Given the description of an element on the screen output the (x, y) to click on. 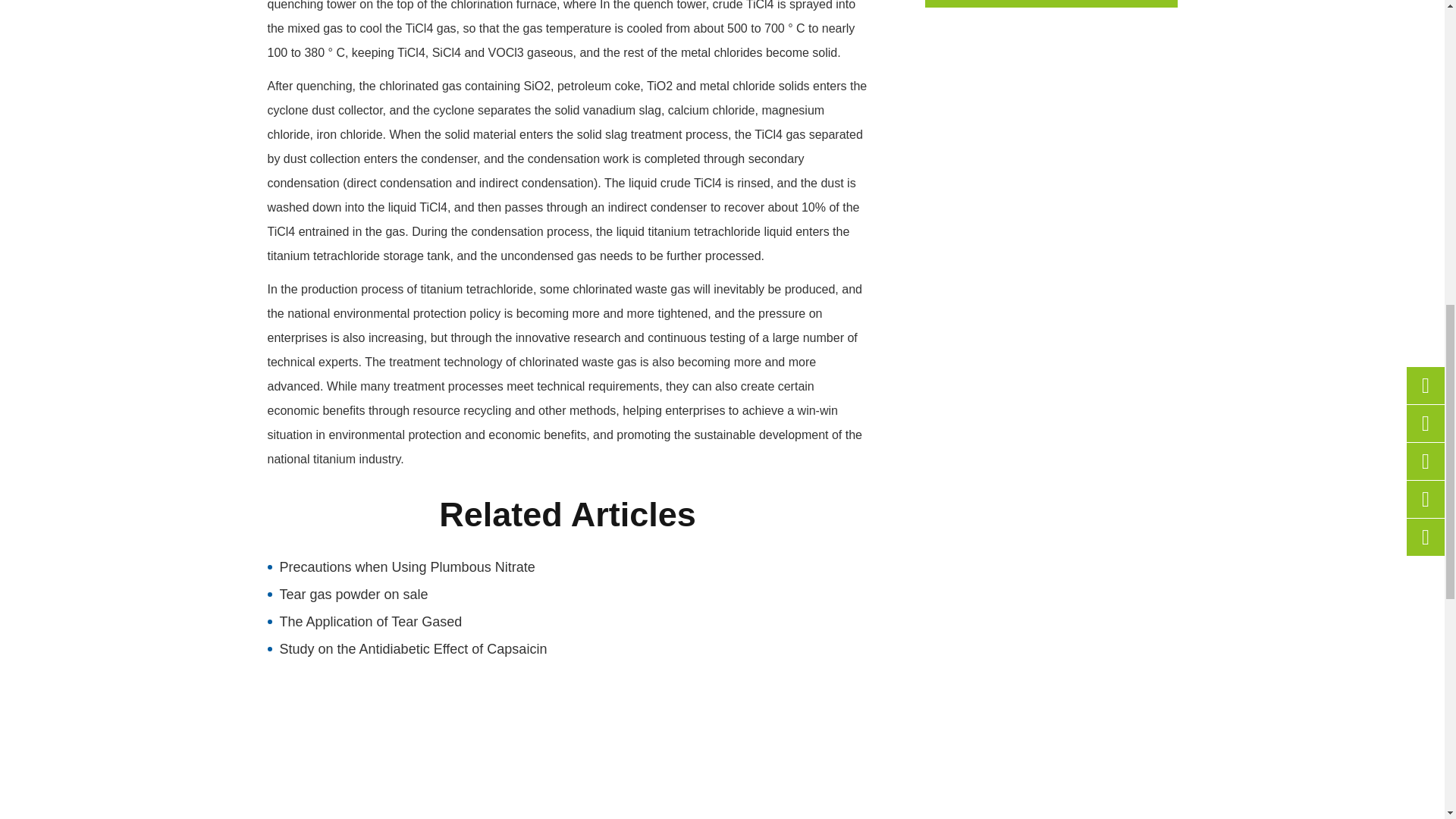
Tear gas powder on sale (566, 594)
Precautions when Using Plumbous Nitrate (566, 566)
